Given the description of an element on the screen output the (x, y) to click on. 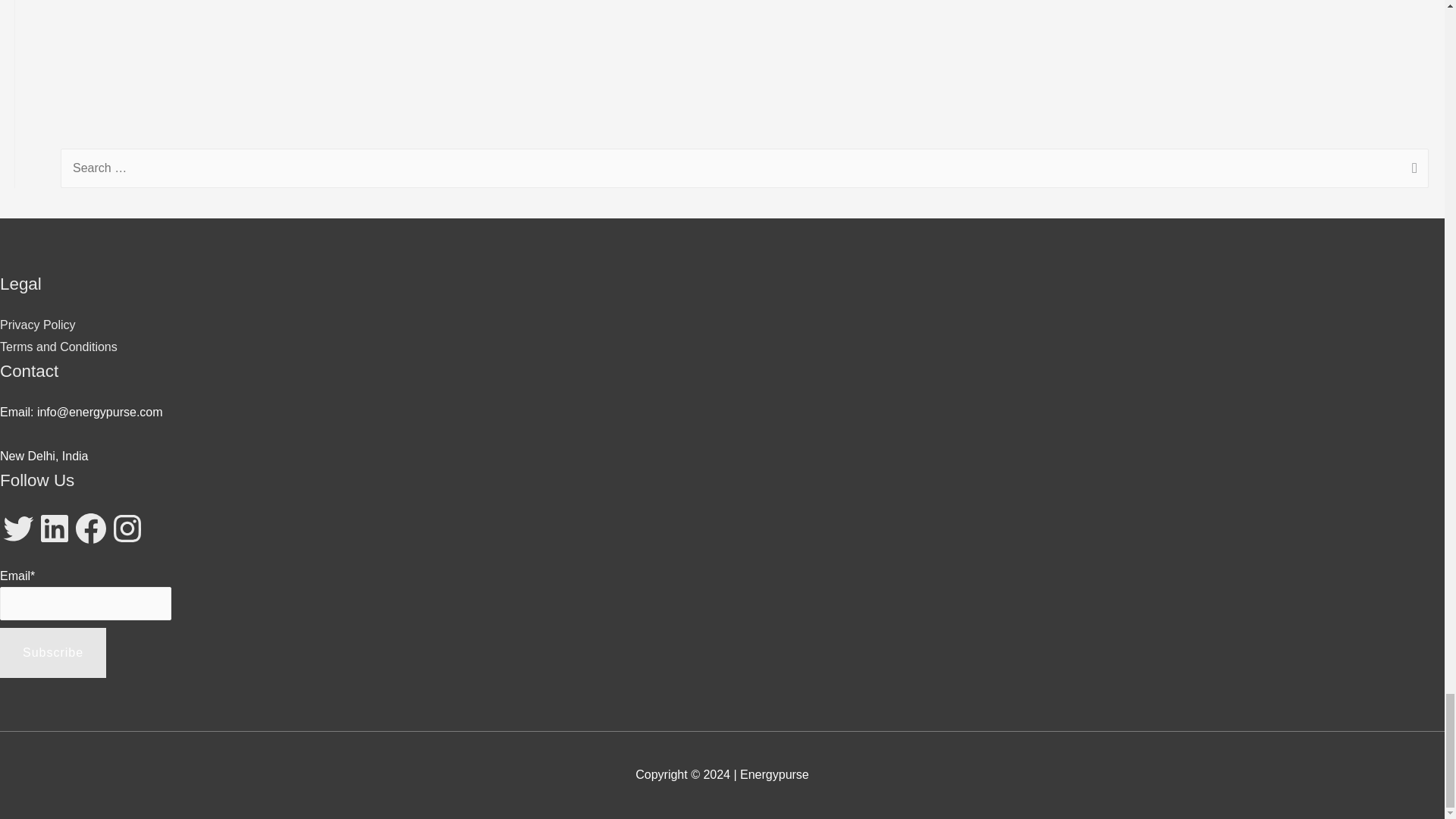
Subscribe (53, 653)
Search (1411, 169)
Search (1411, 169)
